Given the description of an element on the screen output the (x, y) to click on. 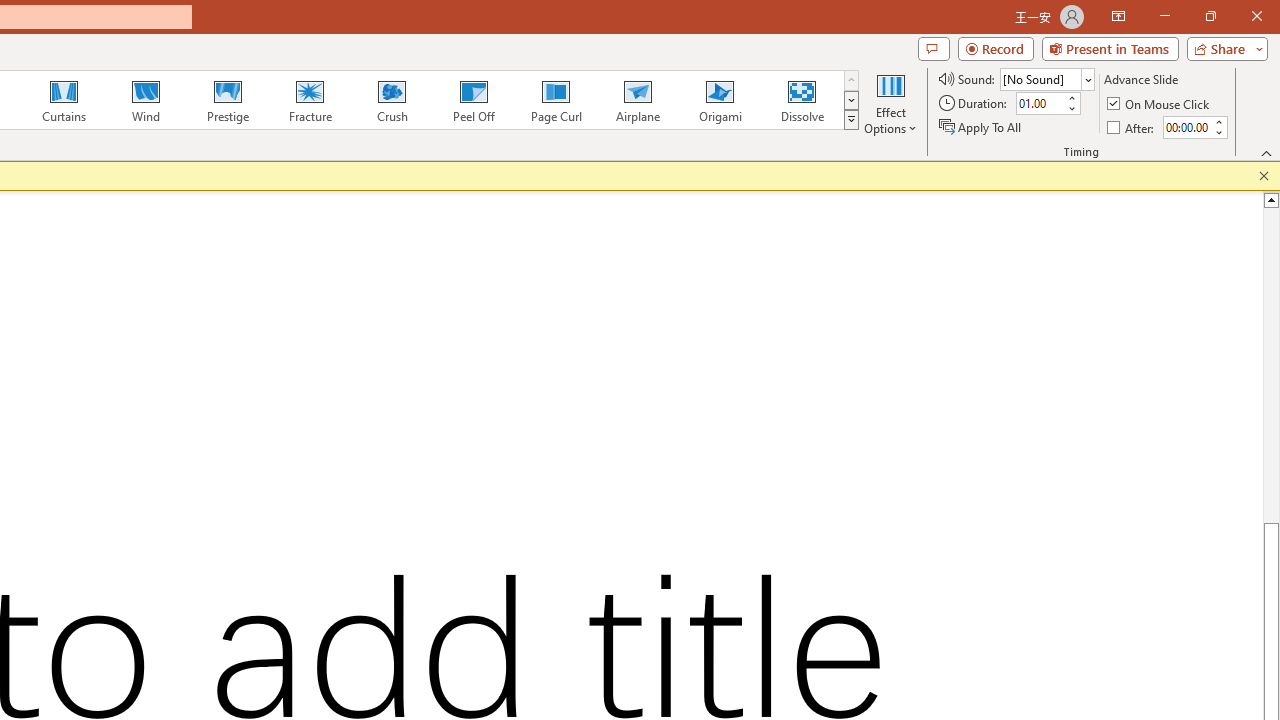
Dissolve (802, 100)
Curtains (63, 100)
Close this message (1263, 176)
Sound (1046, 78)
Page Curl (555, 100)
